Given the description of an element on the screen output the (x, y) to click on. 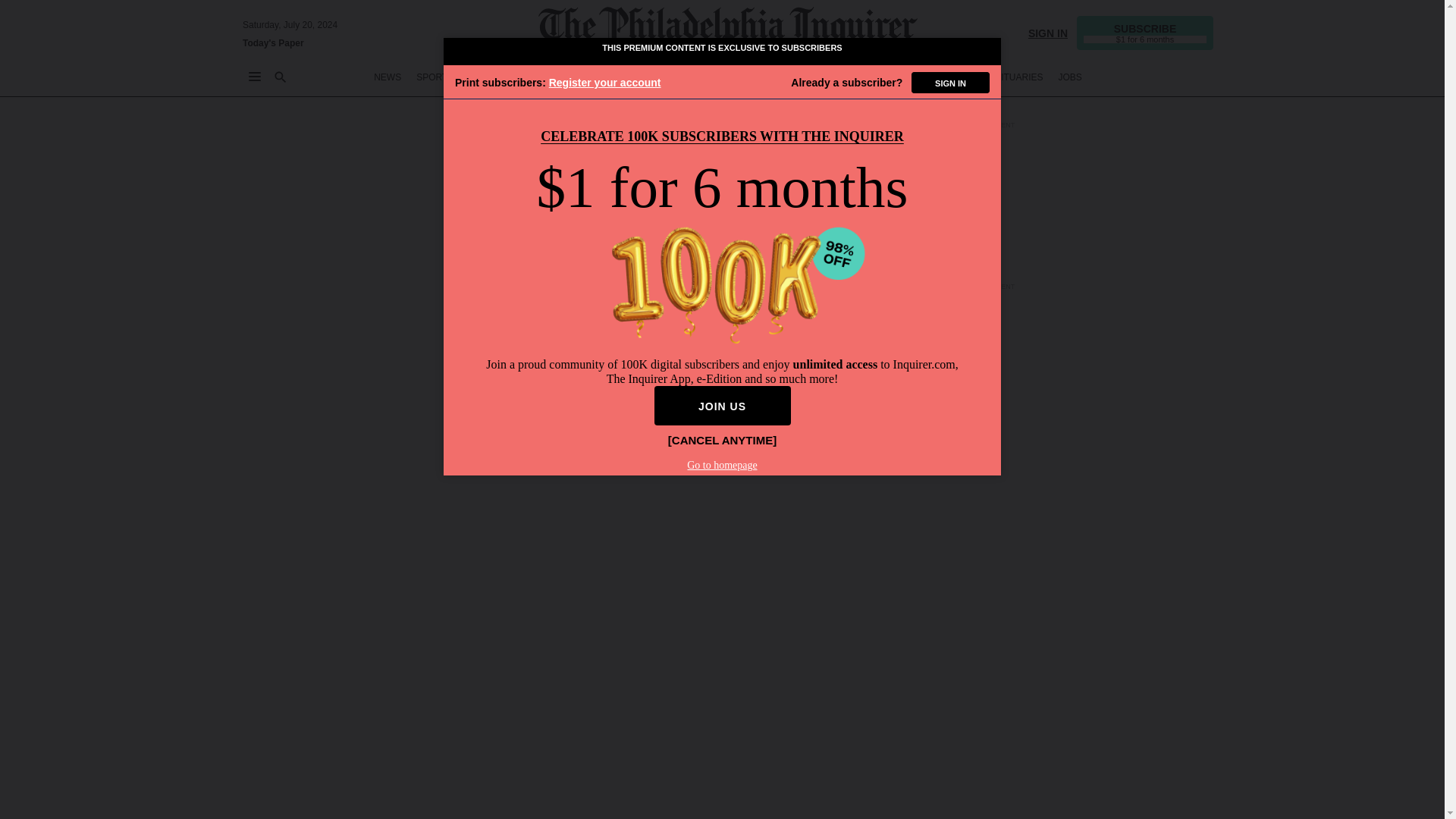
Instagram (1115, 790)
Facebook (1076, 790)
Twitter (1036, 790)
